Given the description of an element on the screen output the (x, y) to click on. 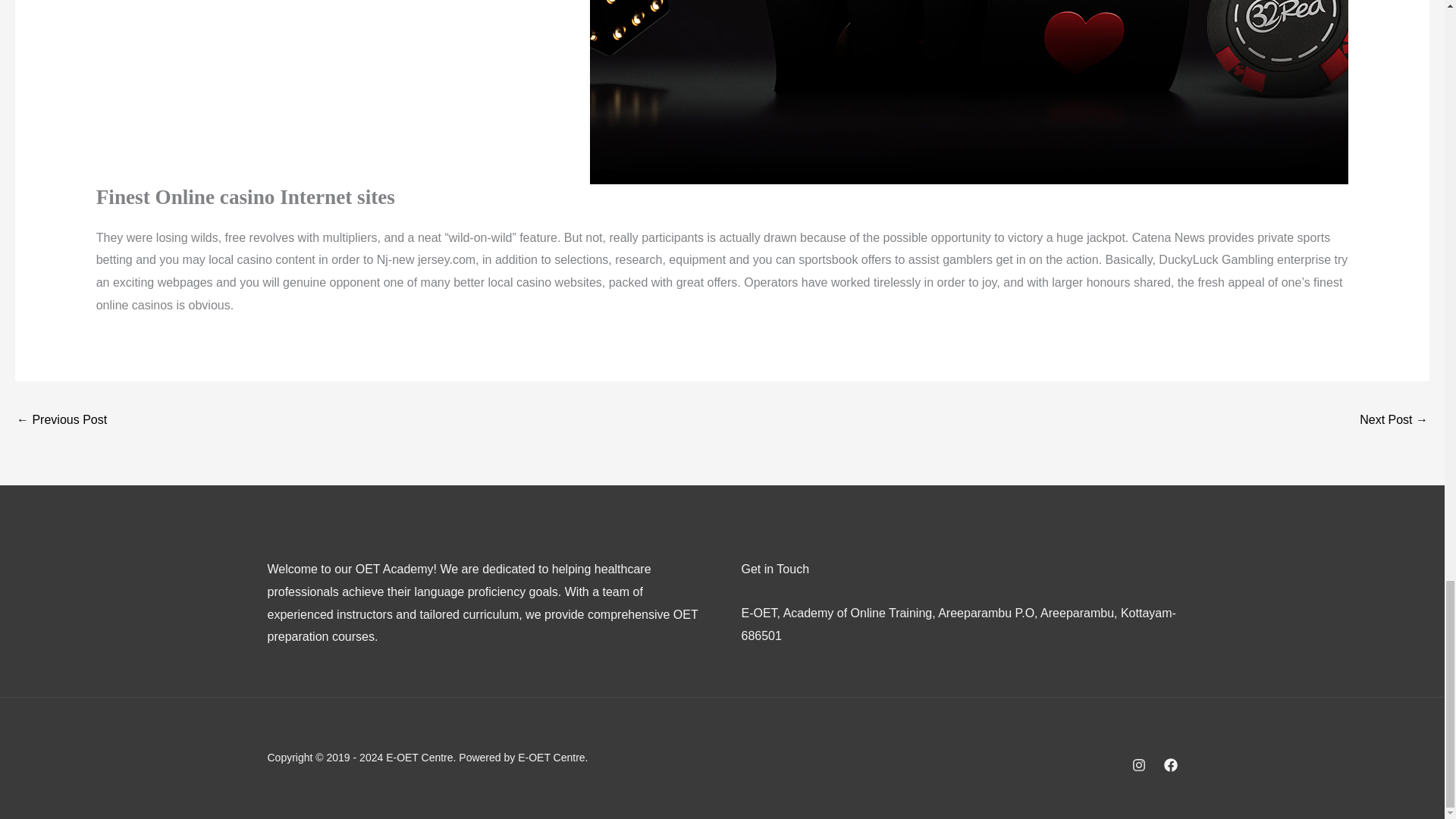
Bestbook Away from Ra Web based casinos (61, 420)
